Given the description of an element on the screen output the (x, y) to click on. 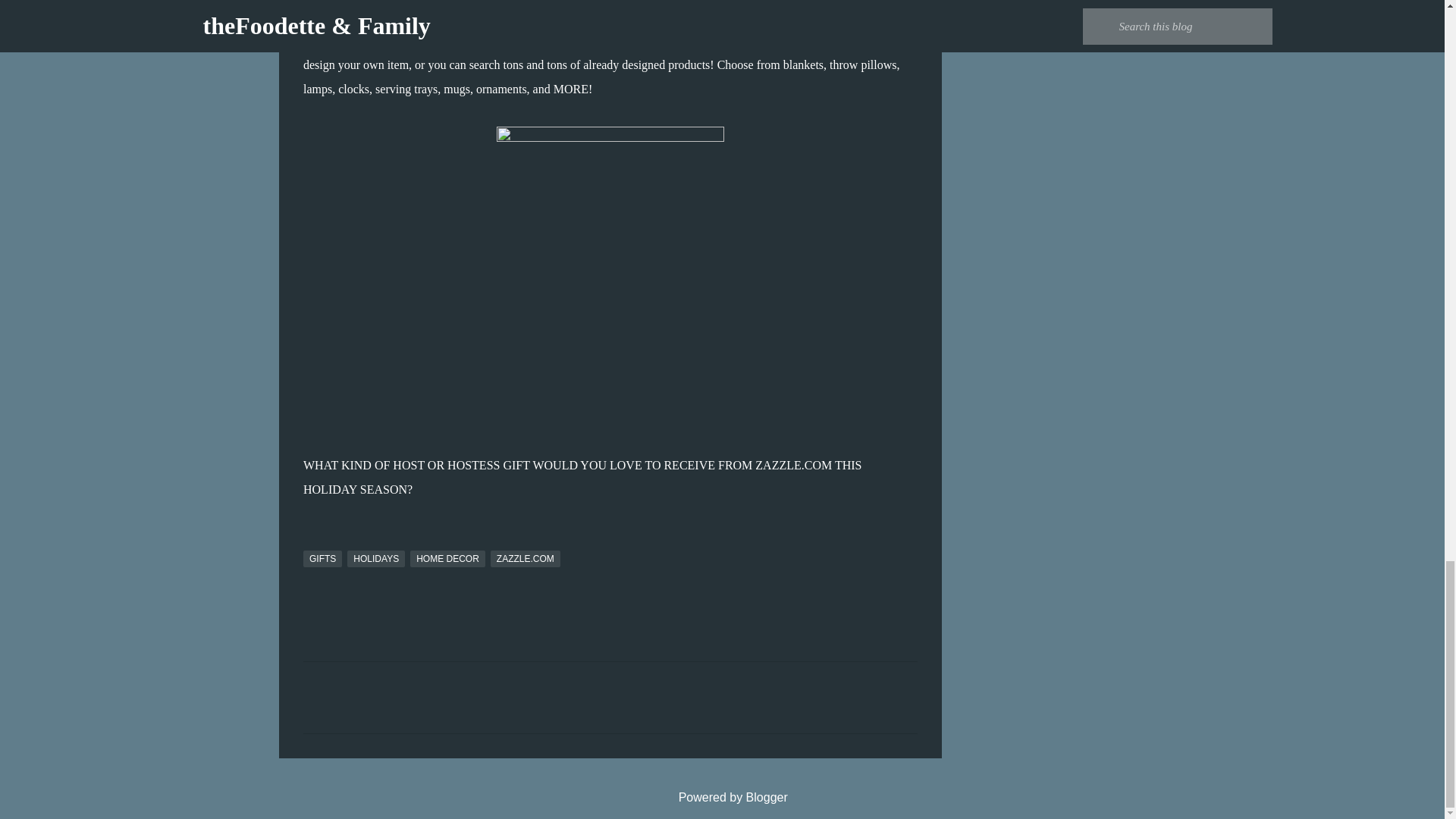
HOME DECOR (447, 558)
GIFTS (322, 558)
HOLIDAYS (375, 558)
ZAZZLE.COM (793, 464)
ZAZZLE.COM (525, 558)
Email Post (311, 541)
Powered by Blogger (721, 797)
Zazzle.com (832, 40)
